Given the description of an element on the screen output the (x, y) to click on. 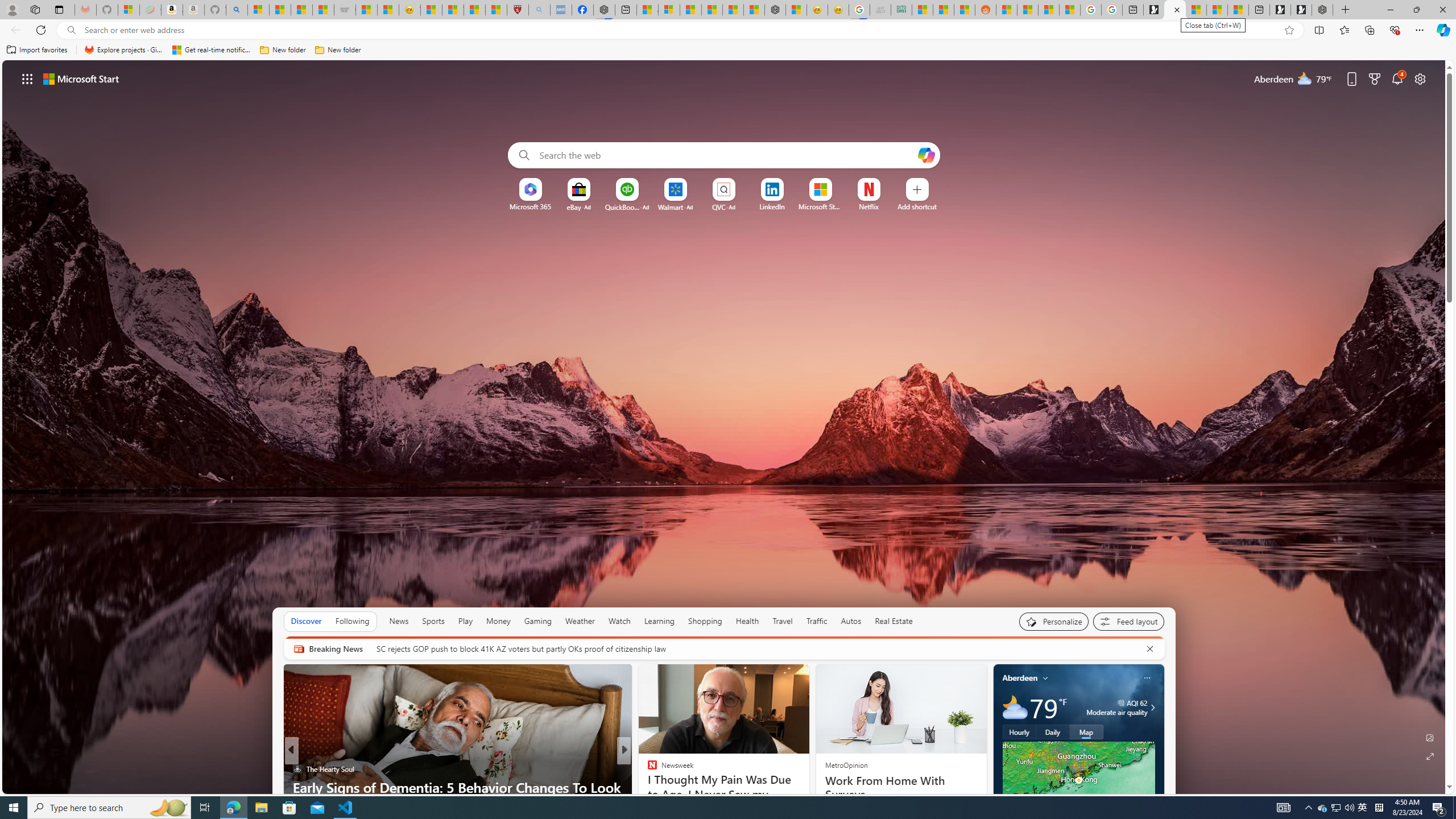
Add a site (916, 206)
MetroOpinion (845, 764)
Constative (647, 768)
Cancel (1150, 648)
Search icon (70, 29)
LinkedIn (771, 206)
